Given the description of an element on the screen output the (x, y) to click on. 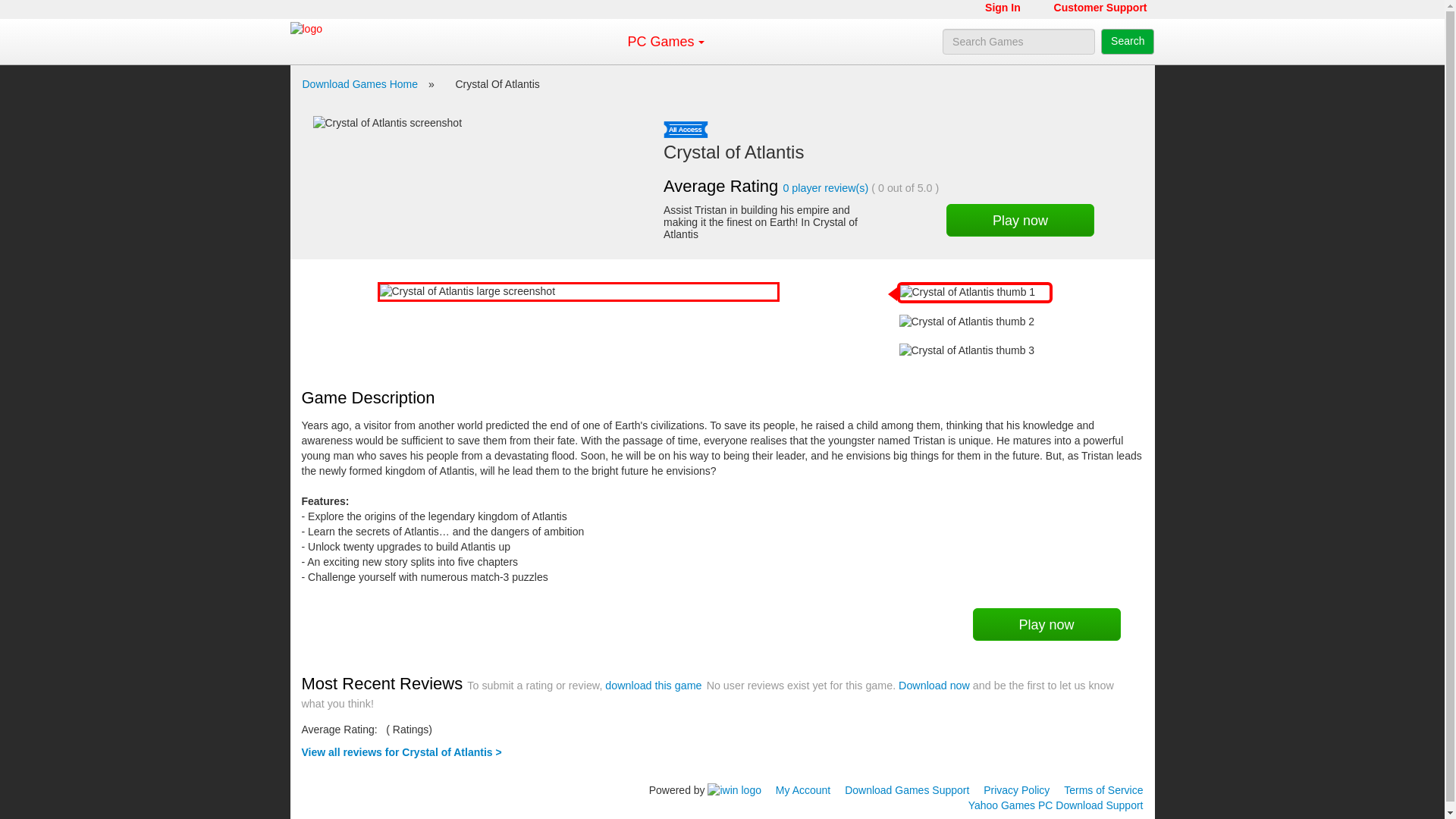
Privacy Policy (1016, 789)
PC Games (660, 41)
Play now (1045, 624)
Search (1127, 41)
Unlimited Play - no ads (685, 129)
Download now (933, 685)
Download Games Support (906, 789)
Our Downloads Are Safe And Secure (325, 786)
Yahoo Games PC Download Support (1055, 805)
Play now (1020, 219)
Customer Support (1100, 9)
Download Games Support (906, 789)
iWin (733, 789)
Terms of Service (1103, 789)
download this game (653, 685)
